Given the description of an element on the screen output the (x, y) to click on. 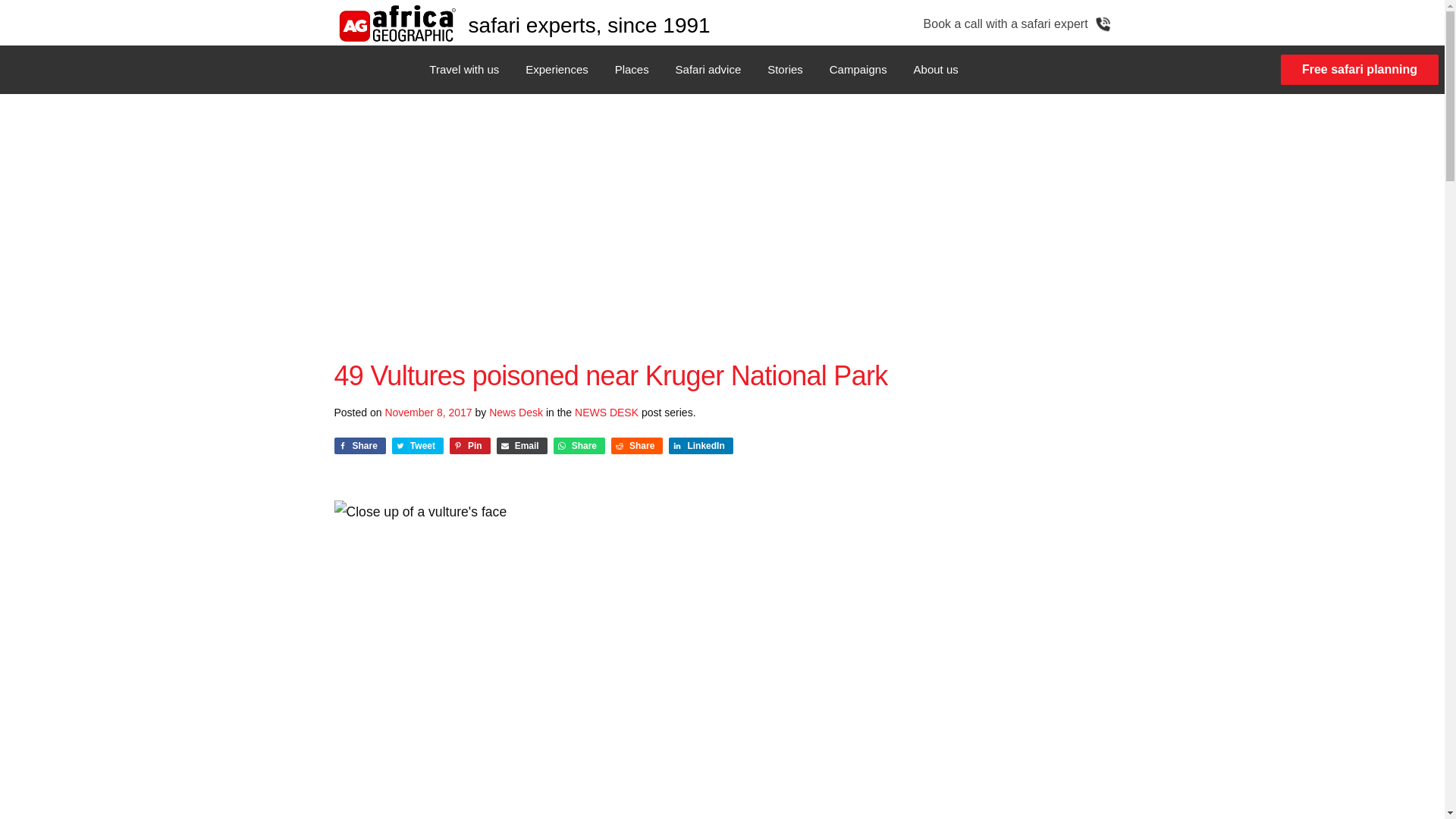
Travel with us (464, 69)
Email (521, 445)
Experiences (556, 69)
Experiences (556, 69)
Stories (784, 69)
Safari advice (707, 69)
Places (632, 69)
Africa Geographic (396, 22)
Travel with us (464, 69)
